Given the description of an element on the screen output the (x, y) to click on. 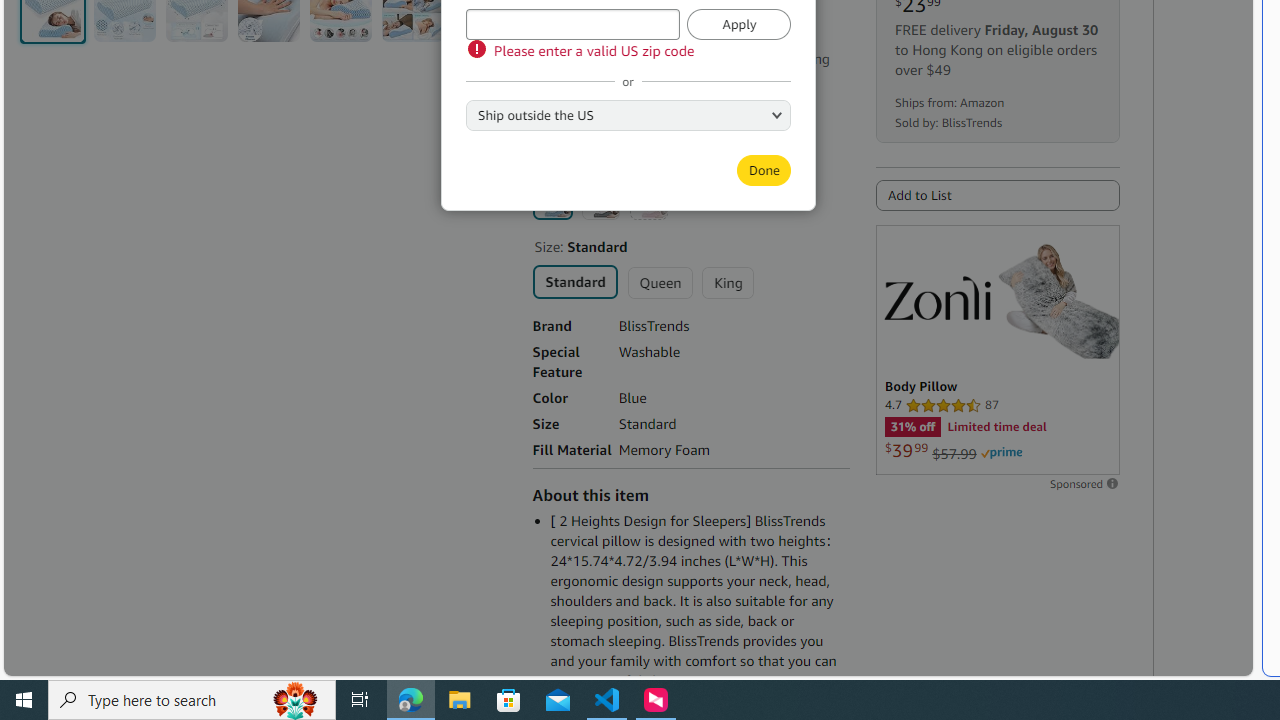
Grey (600, 200)
Pink (647, 200)
Queen (660, 282)
Add to List (997, 195)
Prime (1001, 453)
King (727, 282)
Apply (739, 24)
AutomationID: GLUXCountryList (628, 114)
